Given the description of an element on the screen output the (x, y) to click on. 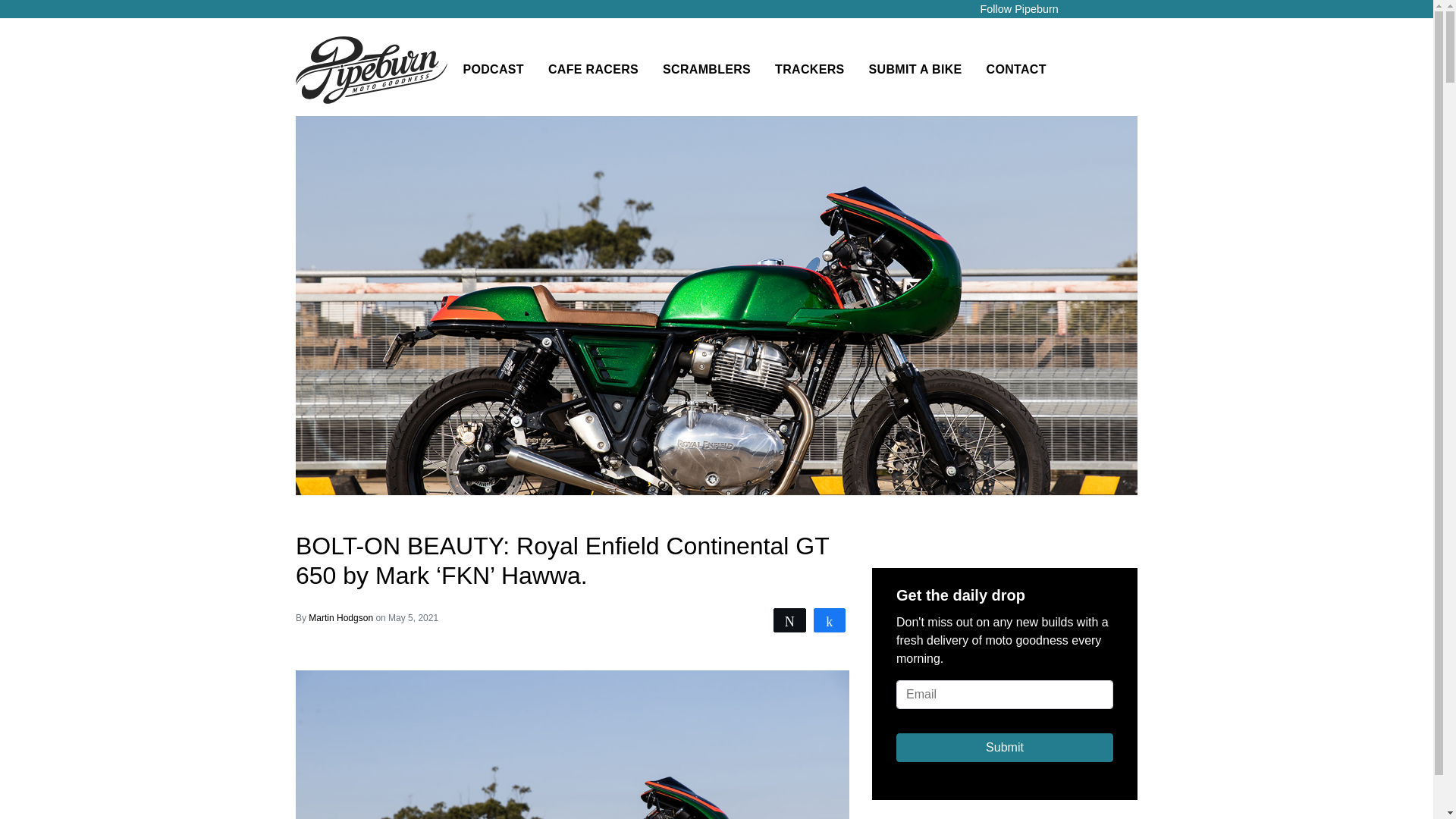
Martin Hodgson (341, 617)
Submit (1004, 747)
TRACKERS (809, 69)
CONTACT (1016, 69)
CAFE RACERS (592, 69)
PODCAST (492, 69)
SCRAMBLERS (706, 69)
SUBMIT A BIKE (915, 69)
